Given the description of an element on the screen output the (x, y) to click on. 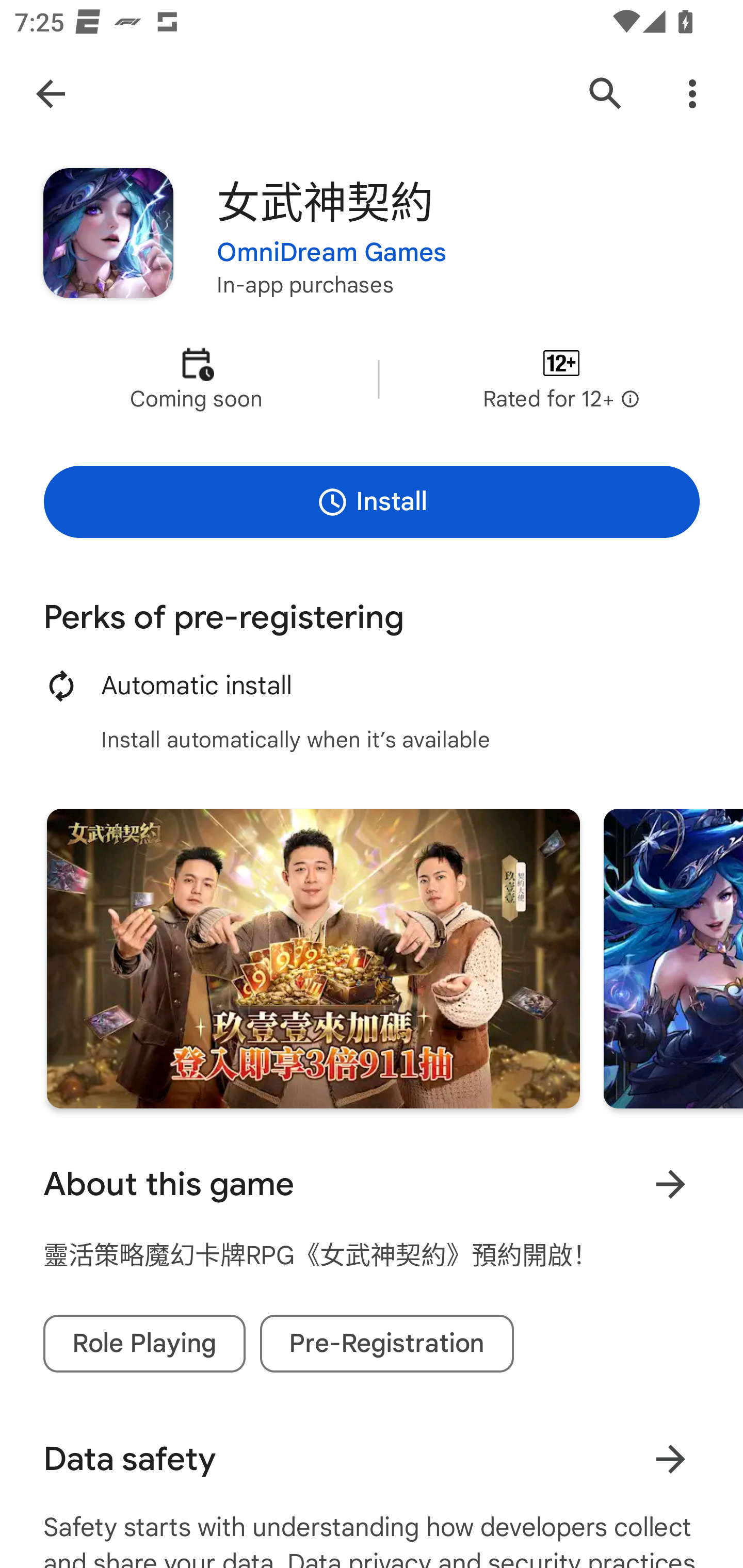
Navigate up (50, 93)
Search Google Play (605, 93)
More Options (692, 93)
OmniDream Games (331, 253)
Content rating Rated for 12+ (561, 379)
Install Pre-register to install (371, 501)
Screenshot "1" of "5" (313, 958)
About this game Learn more About this game (371, 1184)
Learn more About this game (670, 1184)
Role Playing tag (144, 1343)
Pre-Registration tag (387, 1343)
Data safety Learn more about data safety (371, 1458)
Learn more about data safety (670, 1458)
